Given the description of an element on the screen output the (x, y) to click on. 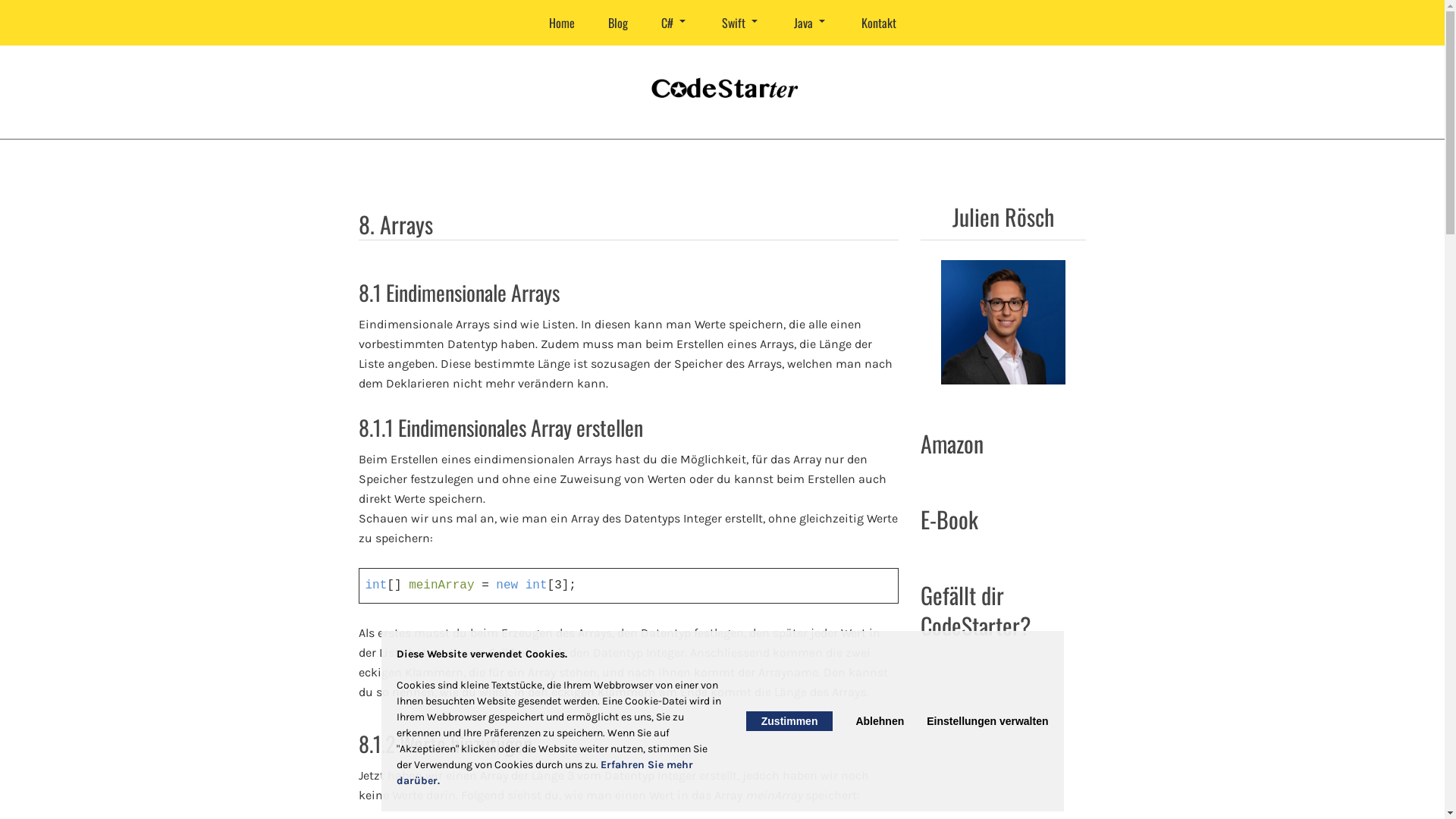
Home Element type: text (561, 22)
Kontakt Element type: text (878, 22)
Einstellungen verwalten Element type: text (987, 721)
Zustimmen Element type: text (789, 721)
Blog Element type: text (618, 22)
Ablehnen Element type: text (879, 721)
